Given the description of an element on the screen output the (x, y) to click on. 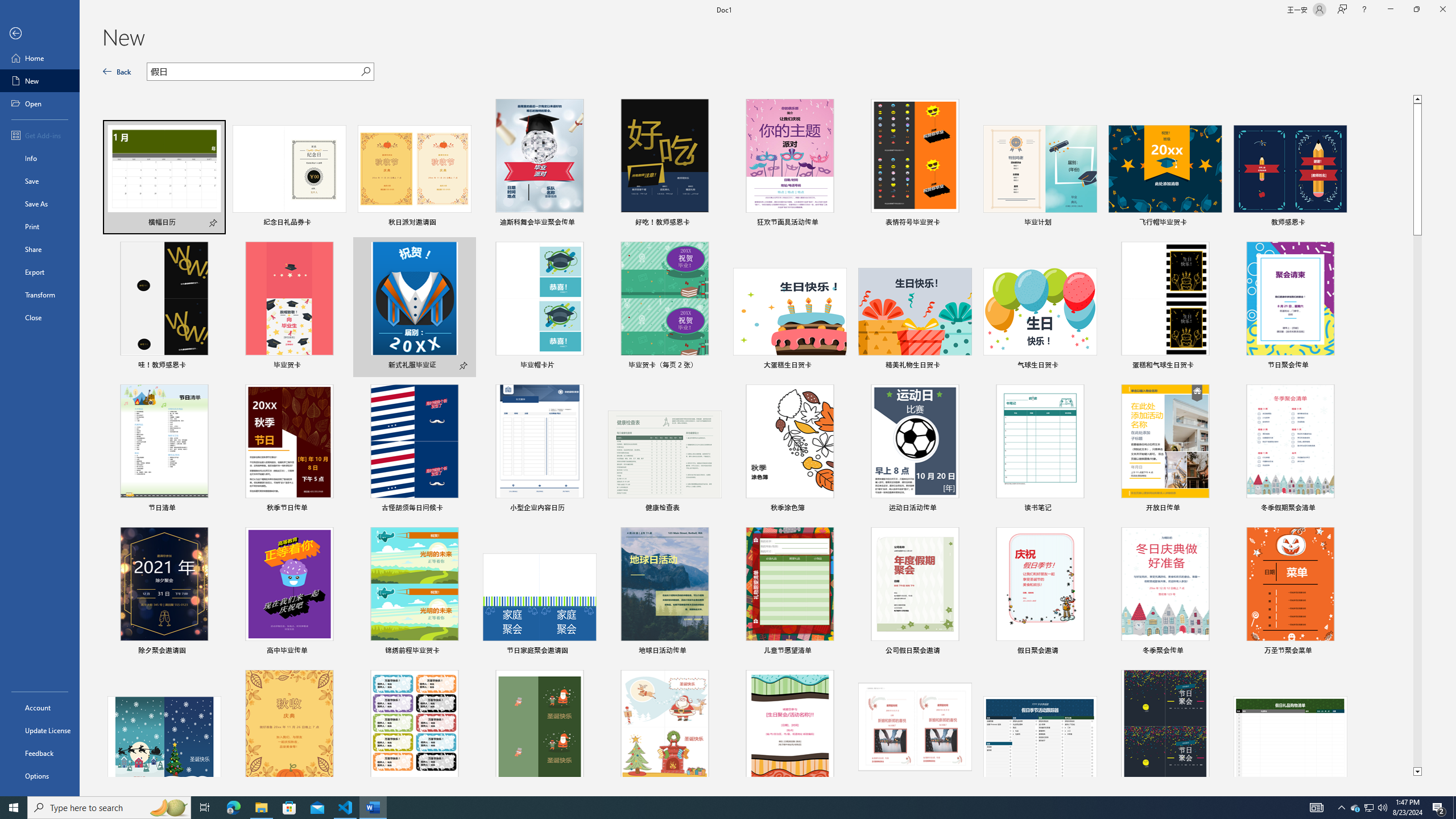
Pin to list (1339, 651)
Update License (40, 730)
